Given the description of an element on the screen output the (x, y) to click on. 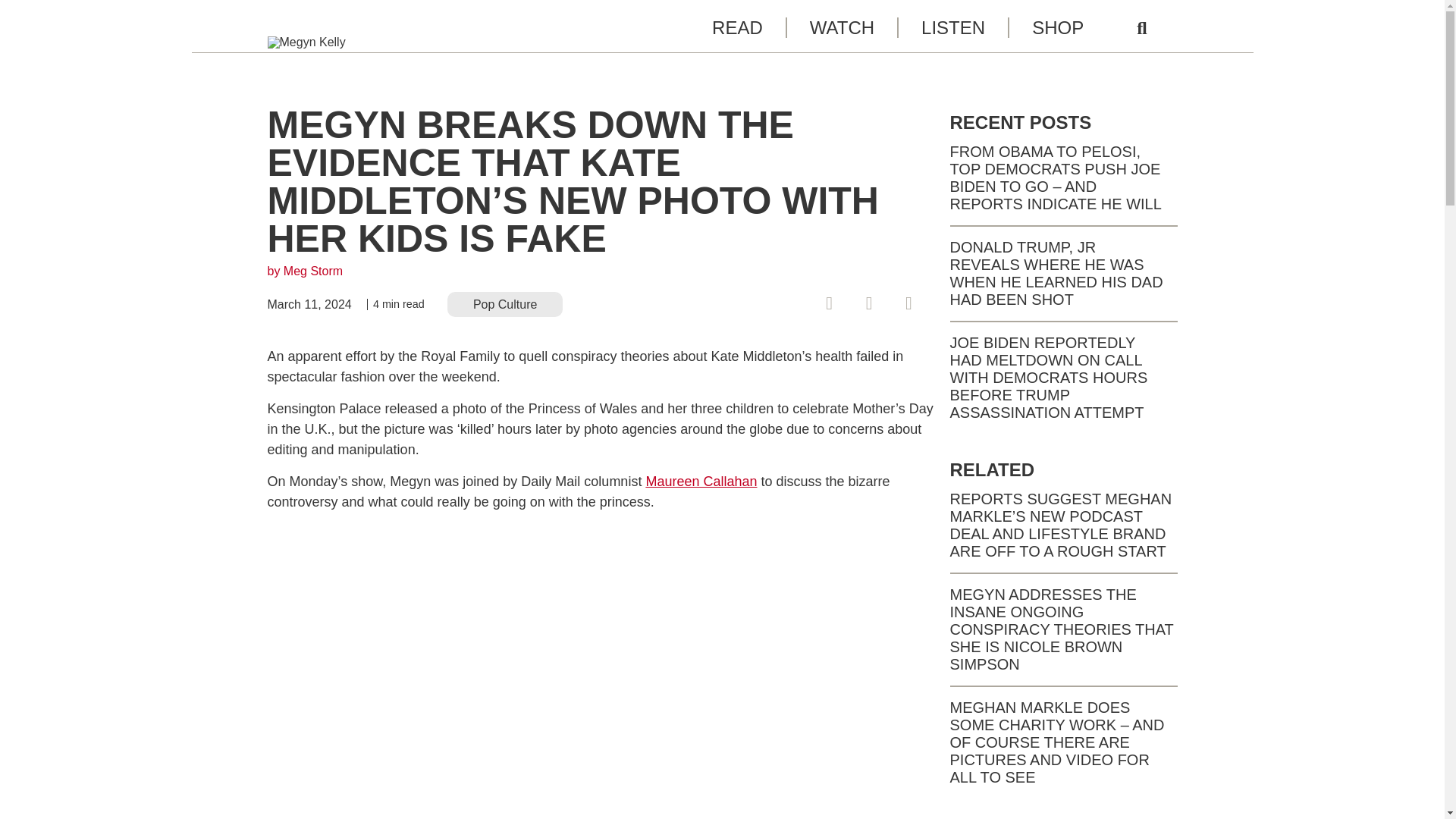
by Meg Storm (304, 270)
SHOP (1056, 27)
March 11, 2024 (308, 304)
READ (737, 27)
WATCH (841, 27)
LISTEN (951, 27)
Pop Culture (504, 303)
Maureen Callahan (701, 481)
